Given the description of an element on the screen output the (x, y) to click on. 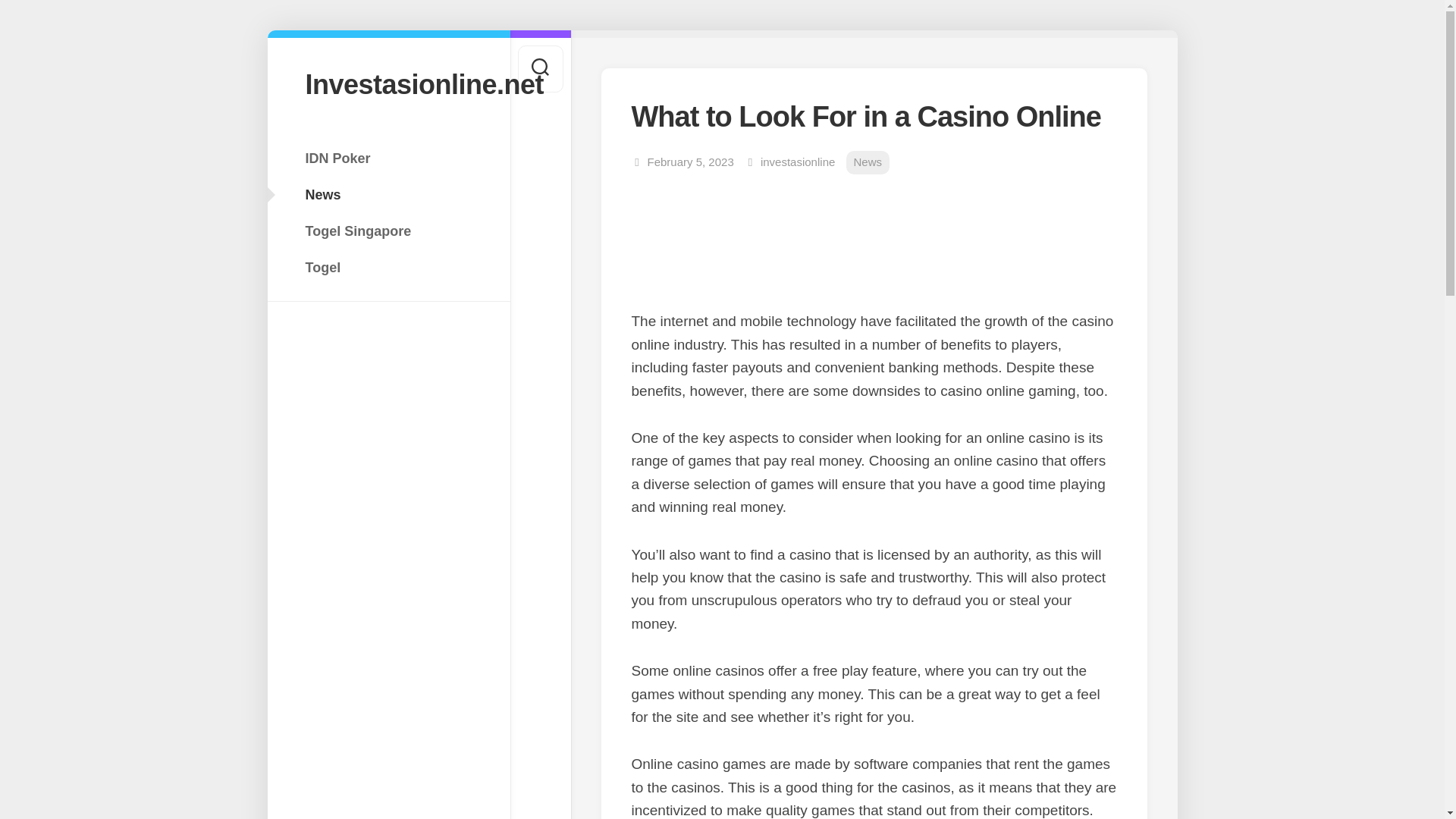
News (387, 194)
Posts by investasionline (797, 161)
News (867, 162)
Investasionline.net (387, 83)
IDN Poker (387, 158)
Togel (387, 267)
investasionline (797, 161)
Togel Singapore (387, 231)
